Given the description of an element on the screen output the (x, y) to click on. 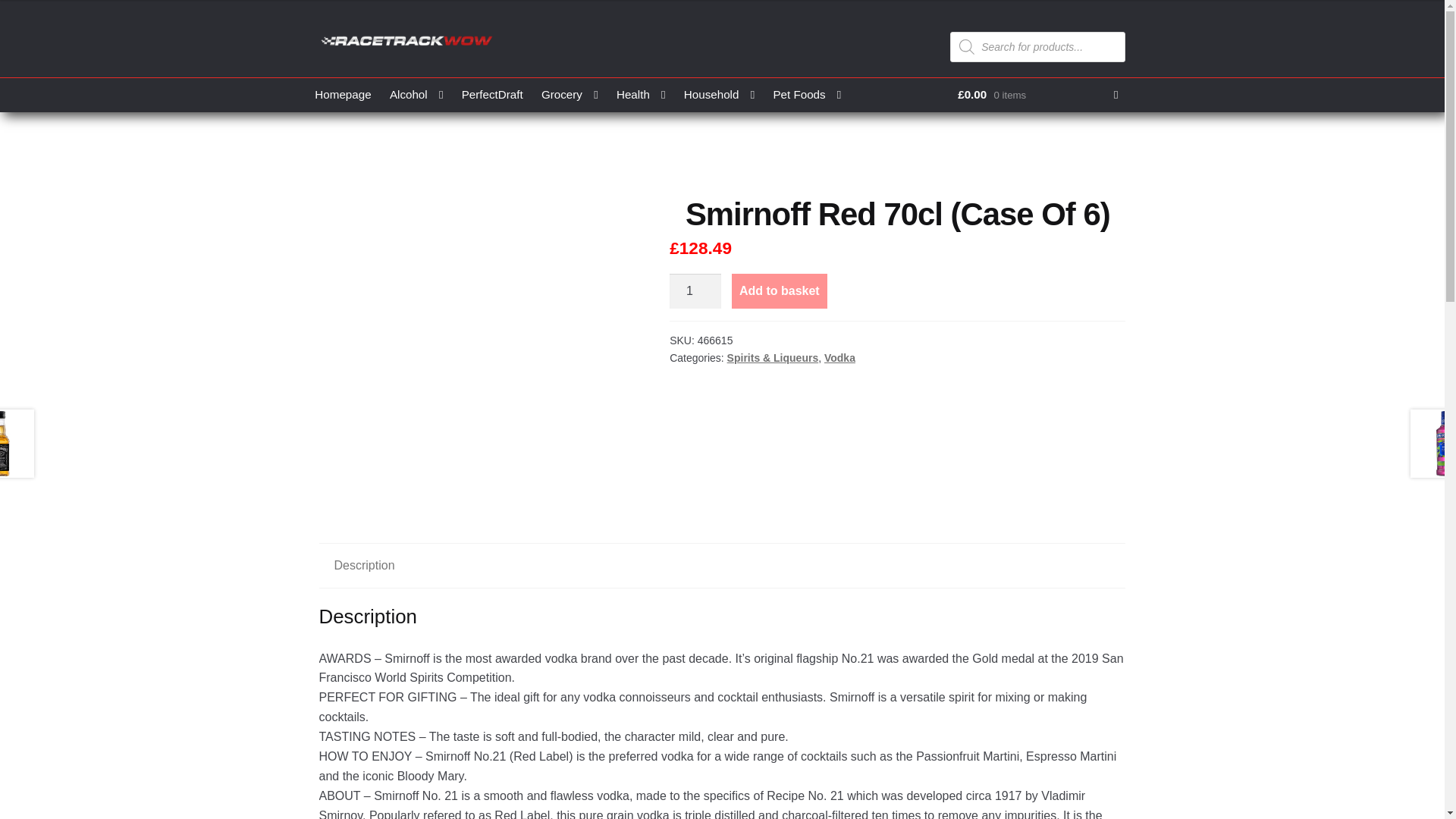
Homepage (342, 94)
Grocery (569, 94)
PerfectDraft (492, 94)
Alcohol (416, 94)
View your shopping basket (1037, 94)
1 (694, 290)
Qty (694, 290)
